Given the description of an element on the screen output the (x, y) to click on. 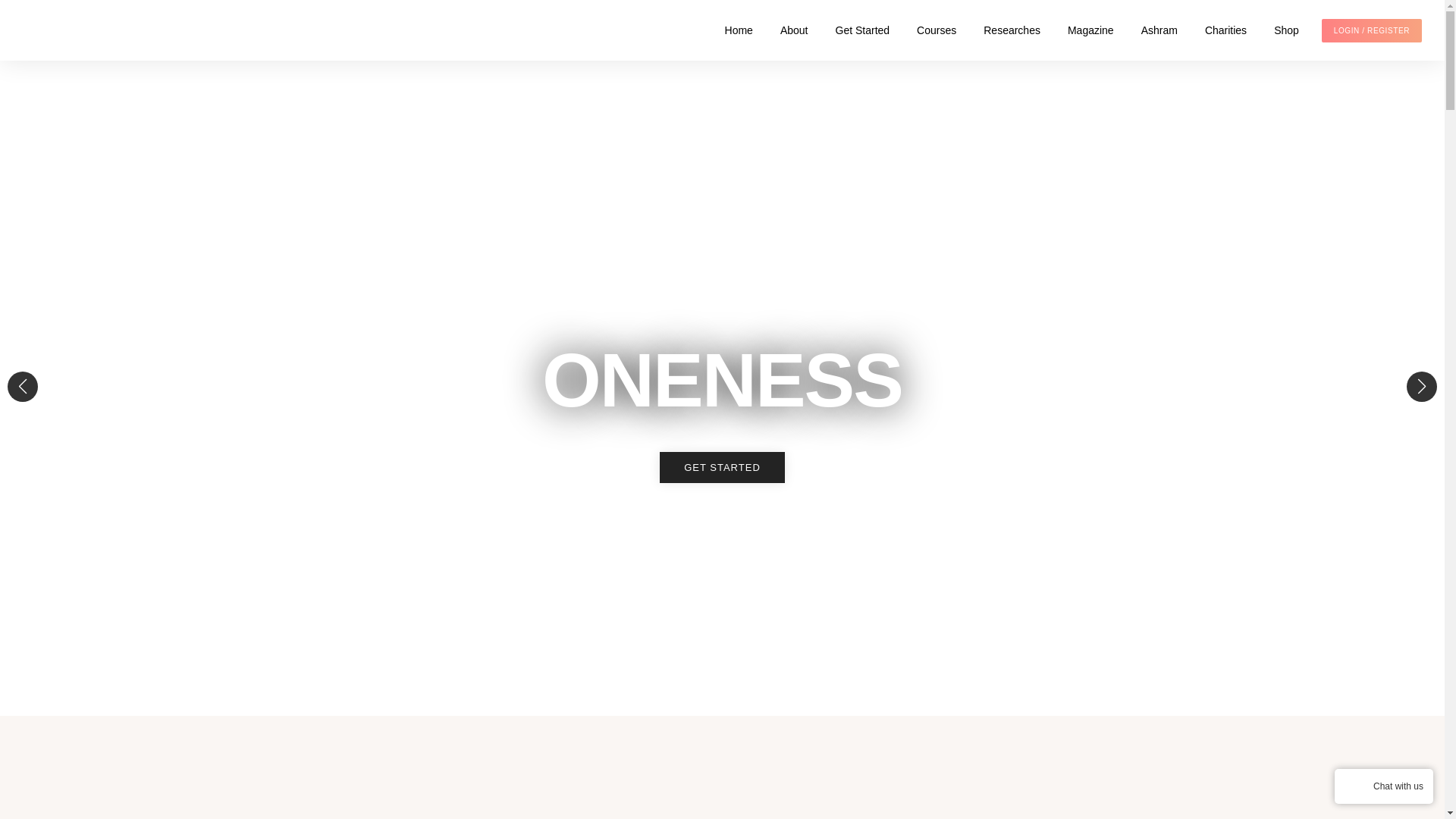
About (794, 30)
Home (738, 30)
Get Started (862, 30)
Courses (936, 30)
